Given the description of an element on the screen output the (x, y) to click on. 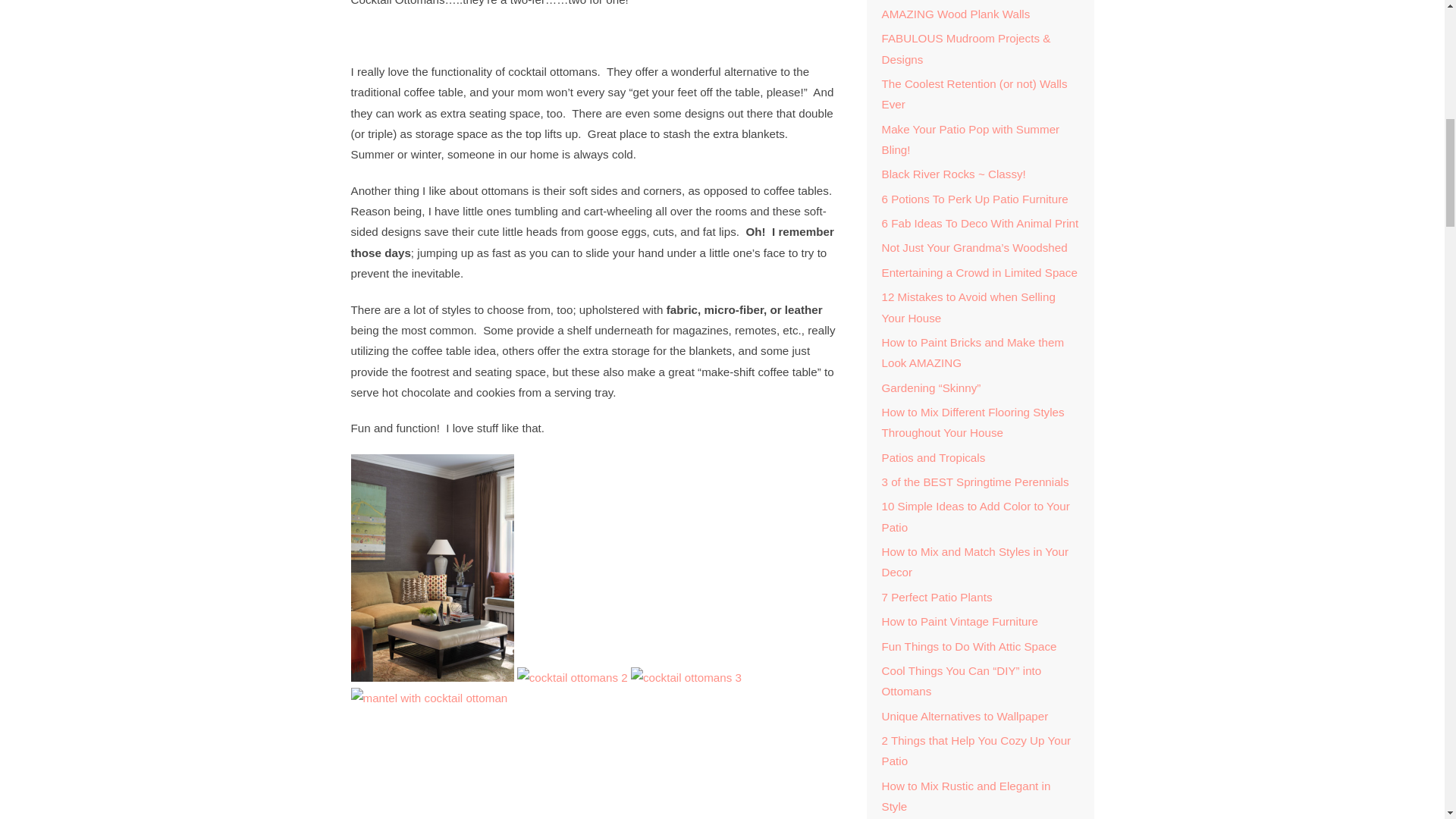
AMAZING Wood Plank Walls (954, 13)
How to Mix Different Flooring Styles Throughout Your House (972, 421)
6 Fab Ideas To Deco With Animal Print (979, 223)
12 Mistakes to Avoid when Selling Your House (967, 306)
Make Your Patio Pop with Summer Bling! (969, 139)
Entertaining a Crowd in Limited Space (978, 272)
How to Paint Bricks and Make them Look AMAZING (972, 352)
6 Potions To Perk Up Patio Furniture (973, 198)
